Given the description of an element on the screen output the (x, y) to click on. 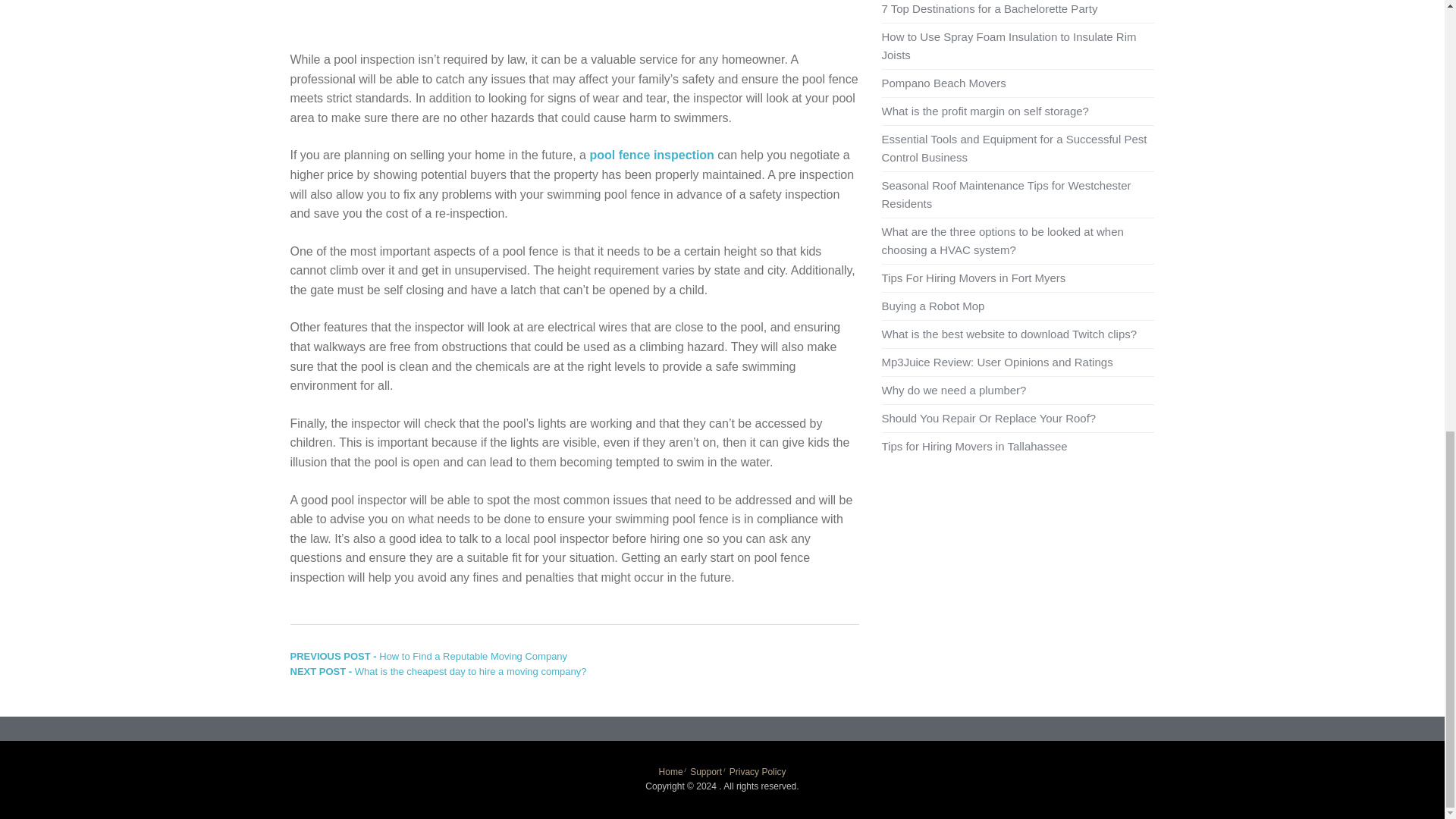
What is the profit margin on self storage? (983, 110)
Tips for Hiring Movers in Tallahassee (973, 445)
Mp3Juice Review: User Opinions and Ratings (996, 361)
Home (670, 771)
Pompano Beach Movers (943, 82)
How to Use Spray Foam Insulation to Insulate Rim Joists (1007, 45)
